Given the description of an element on the screen output the (x, y) to click on. 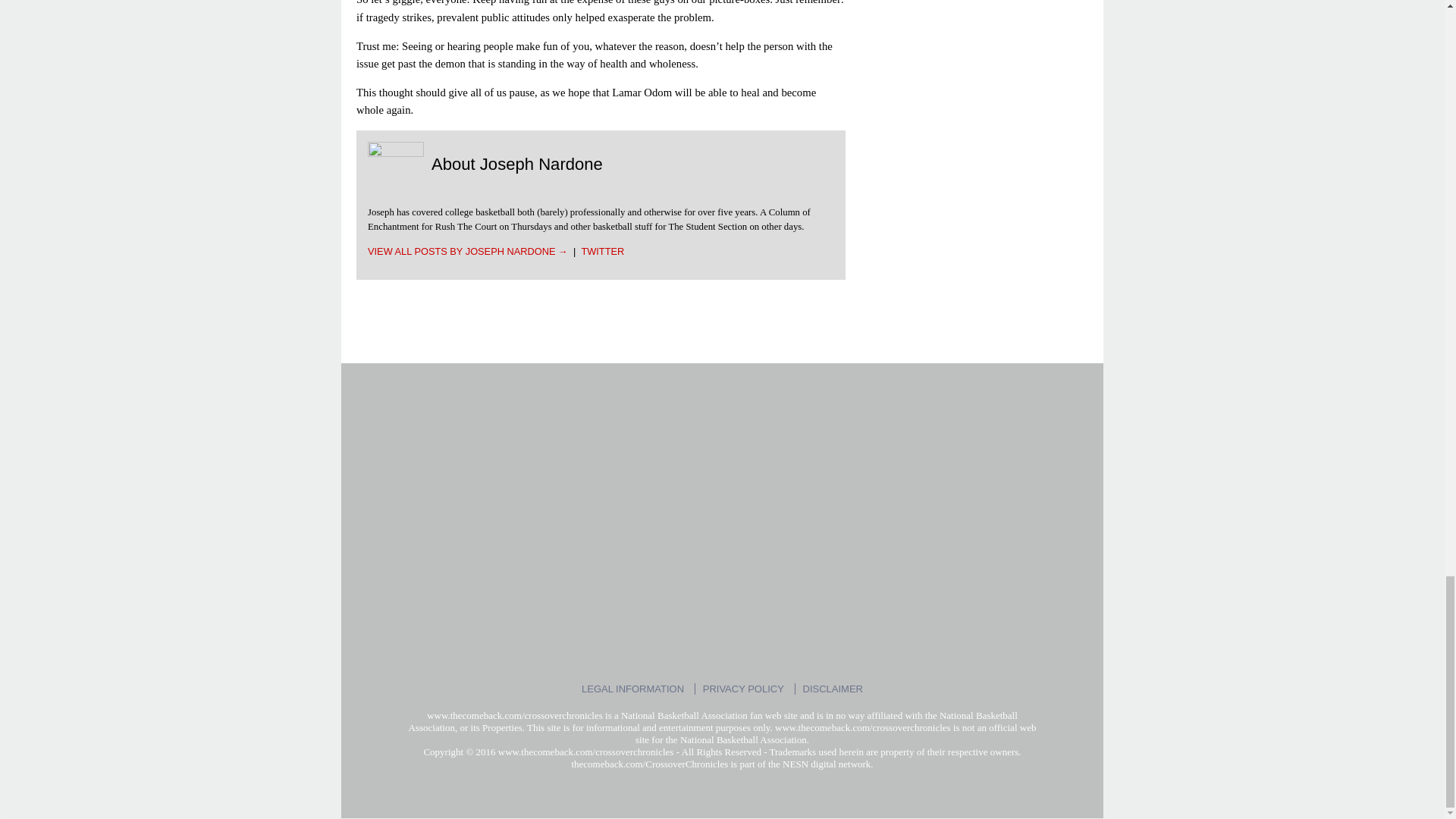
TWITTER (602, 251)
LEGAL INFORMATION (632, 688)
PRIVACY POLICY (743, 688)
DISCLAIMER (833, 688)
